Given the description of an element on the screen output the (x, y) to click on. 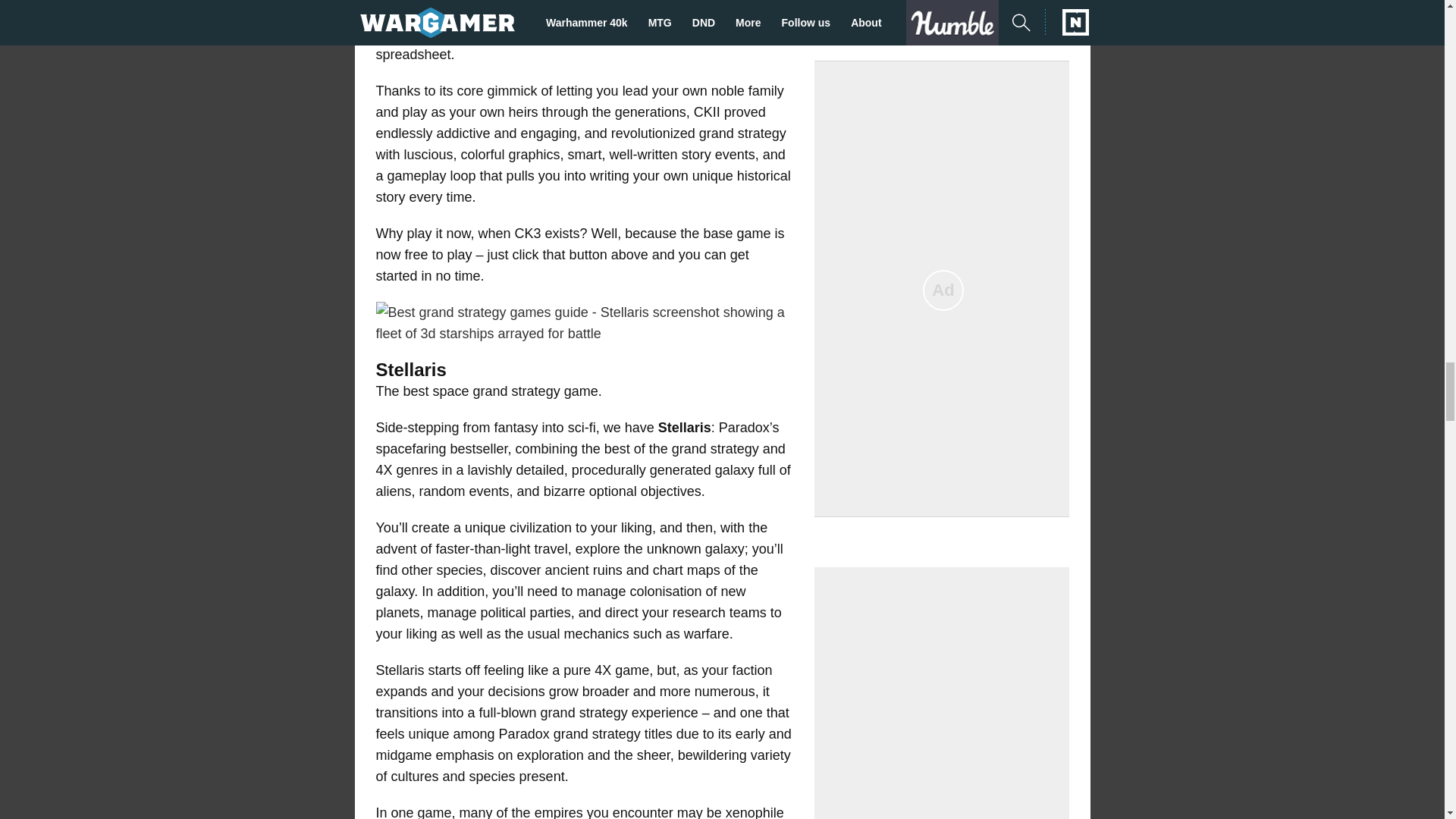
best-grand-strategy-games-guide-Stellaris-fleet-of-ships (584, 322)
